Given the description of an element on the screen output the (x, y) to click on. 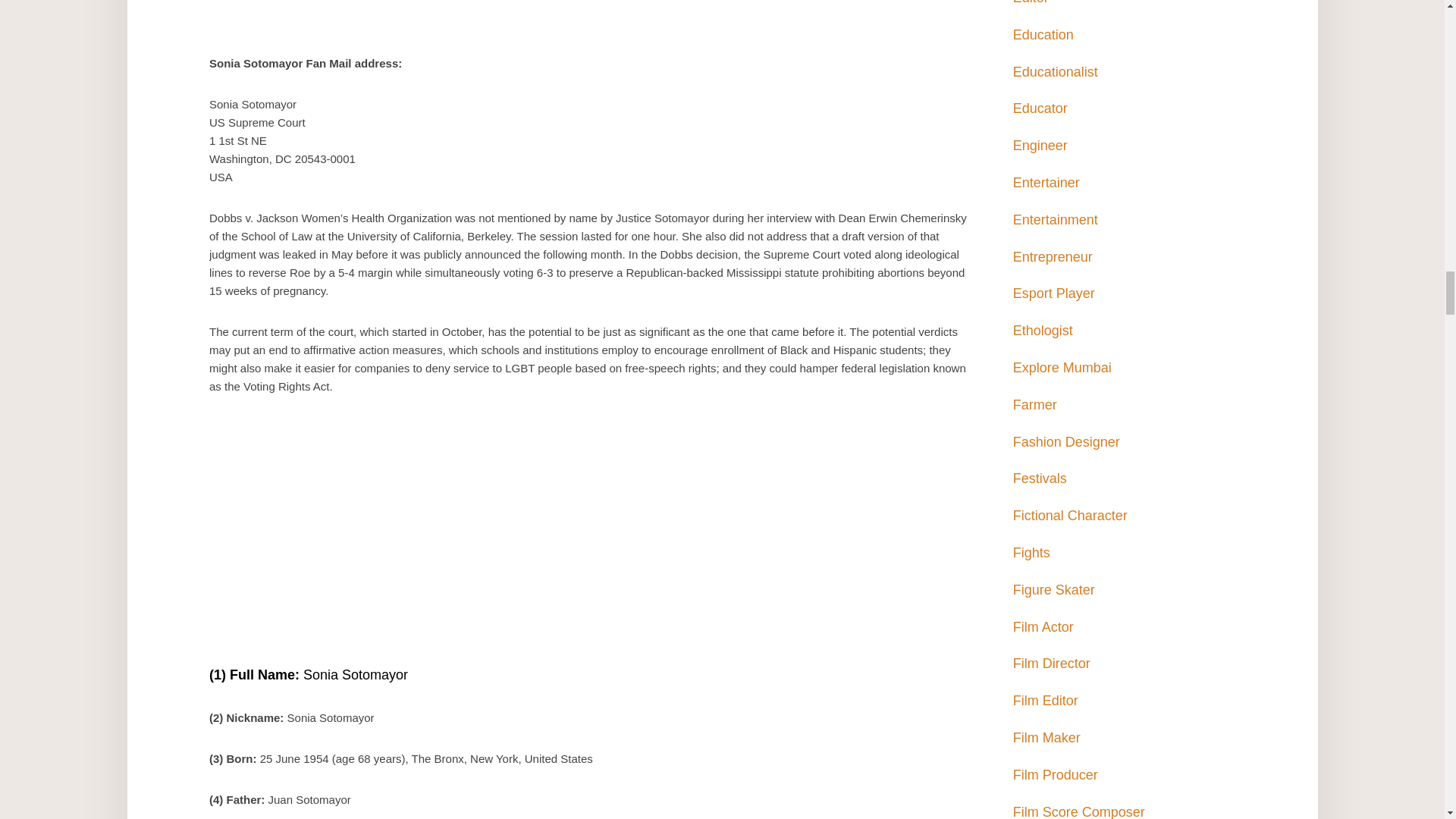
YouTube video player (587, 537)
